Given the description of an element on the screen output the (x, y) to click on. 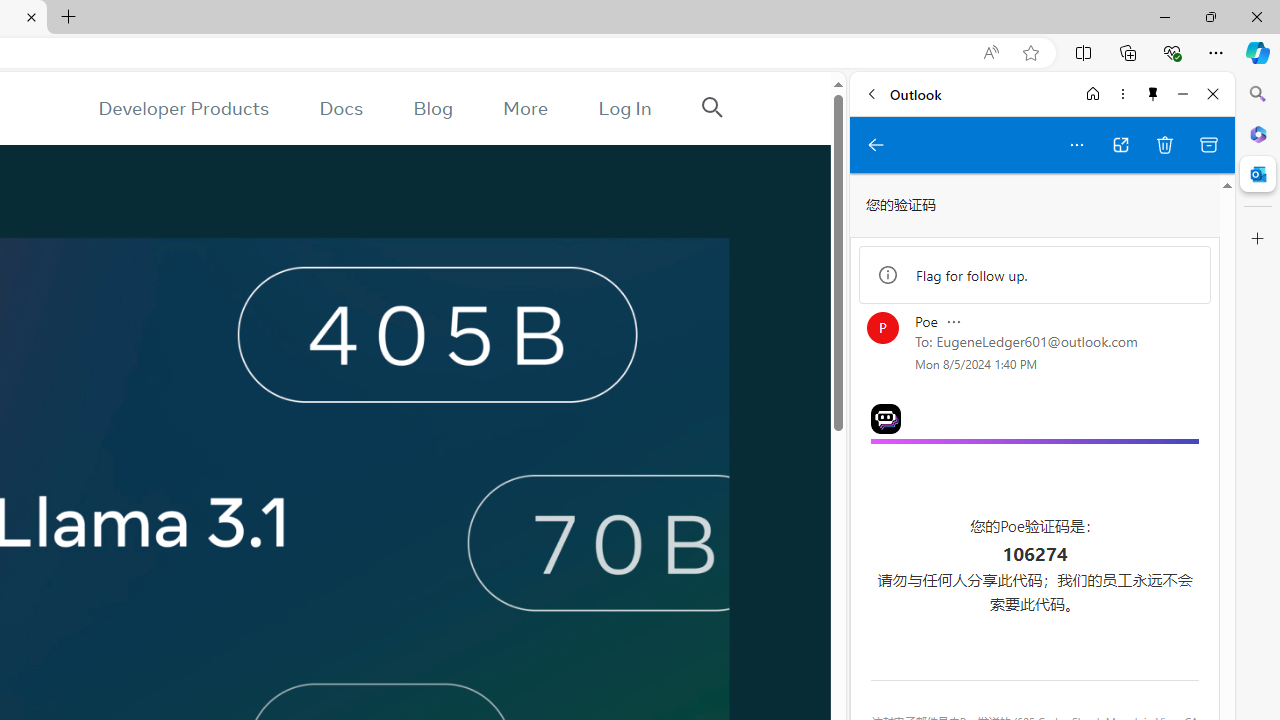
Docs (341, 108)
Log In (625, 108)
Received on Mon 8/5/2024 1:40 PM (976, 363)
Outlook (1258, 174)
Customize (1258, 239)
Poe (1034, 441)
Sent by Poe. message expanded. double tap to collapse (926, 321)
